Given the description of an element on the screen output the (x, y) to click on. 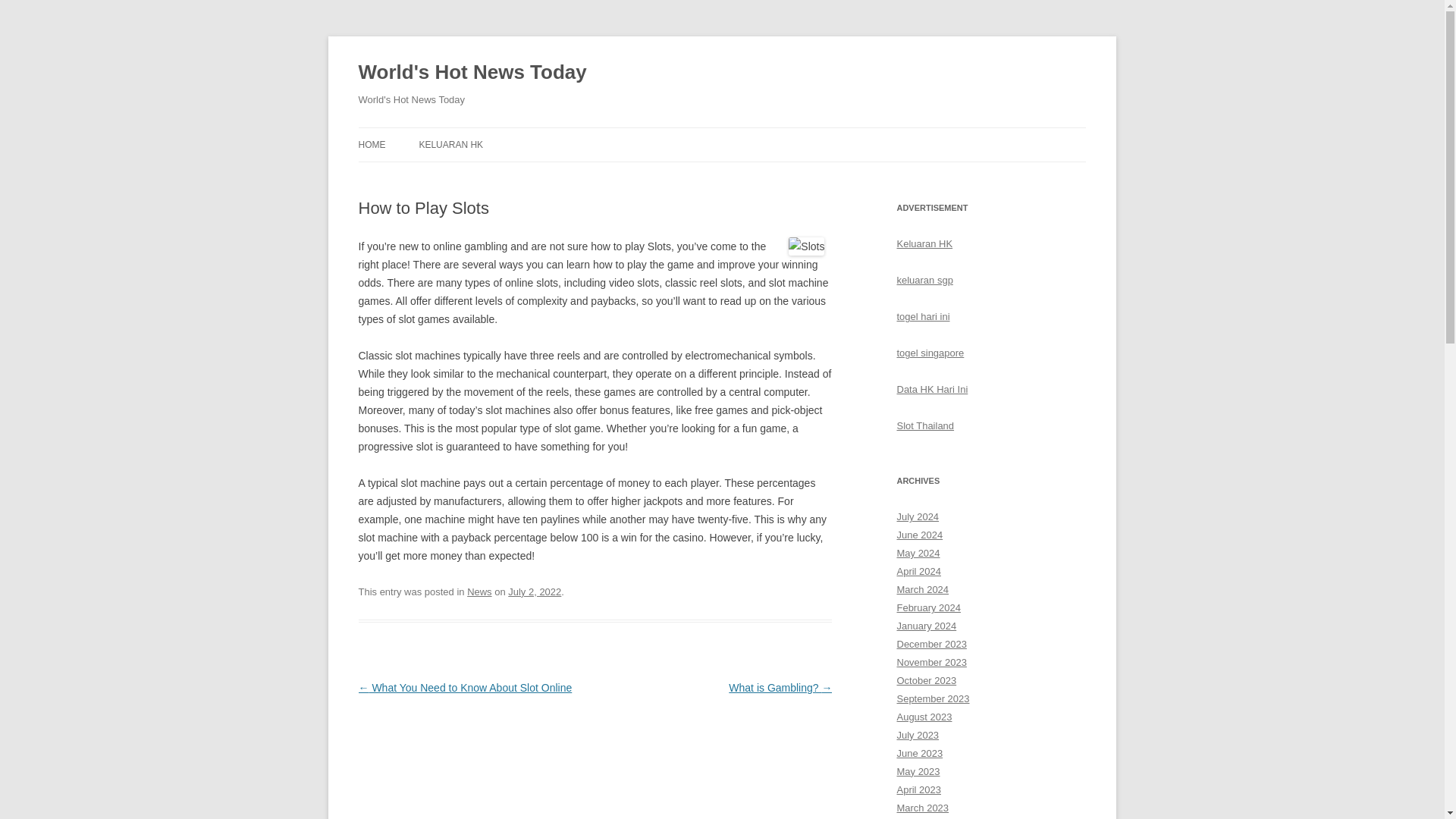
January 2024 (926, 625)
June 2023 (919, 753)
March 2024 (922, 589)
July 2024 (917, 516)
Data HK Hari Ini (932, 389)
October 2023 (926, 680)
Keluaran HK (924, 243)
News (479, 591)
9:37 pm (534, 591)
August 2023 (924, 716)
June 2024 (919, 534)
November 2023 (931, 662)
togel hari ini (922, 316)
keluaran sgp (924, 279)
Slot Thailand (924, 425)
